Given the description of an element on the screen output the (x, y) to click on. 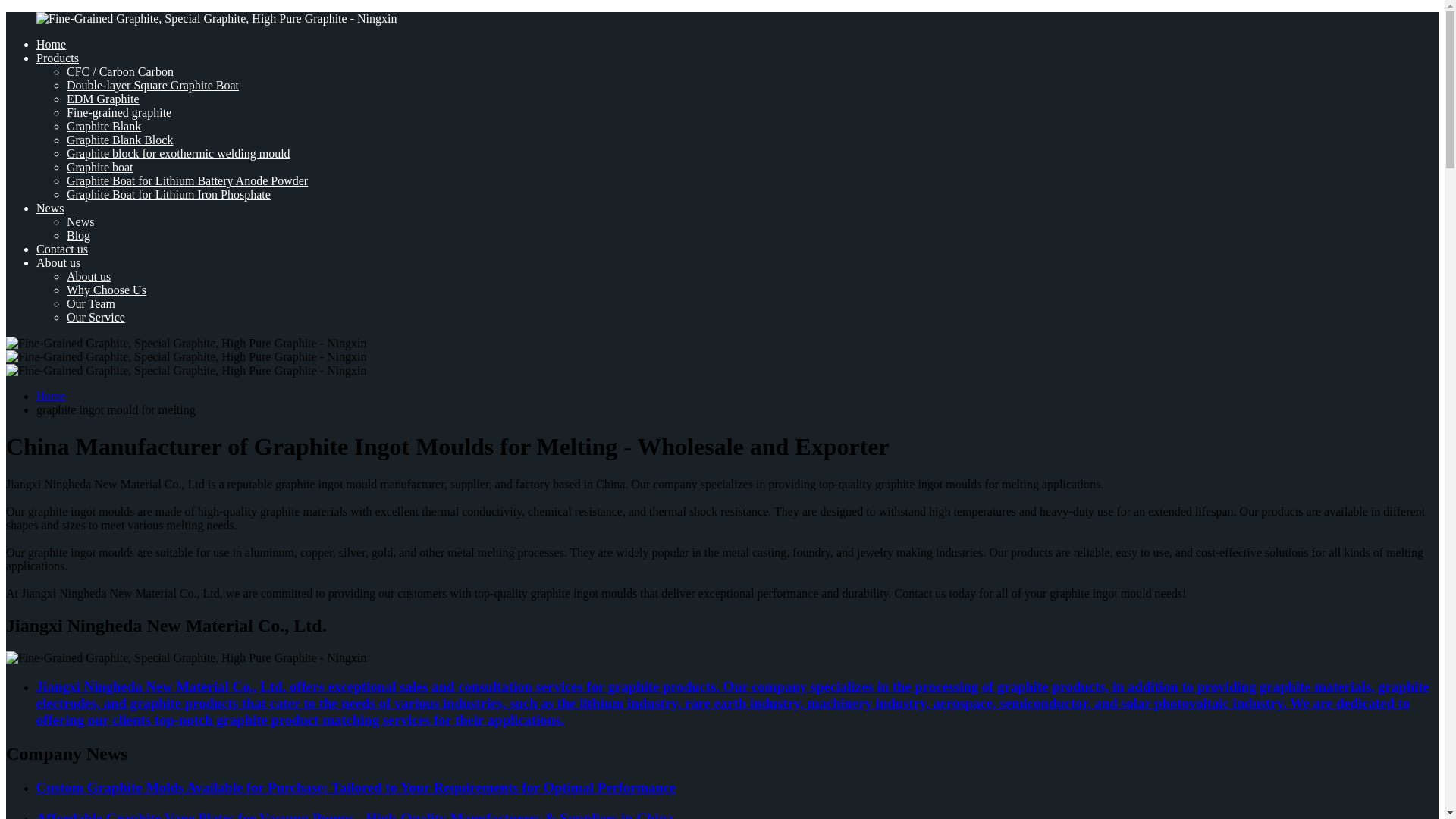
Graphite Blank Block (119, 139)
News (50, 207)
Home (50, 43)
Fine-grained graphite (118, 112)
Why Choose Us (106, 289)
Our Team (90, 303)
About us (88, 276)
Blog (78, 235)
Products (57, 57)
Graphite Boat for Lithium Iron Phosphate (168, 194)
